Given the description of an element on the screen output the (x, y) to click on. 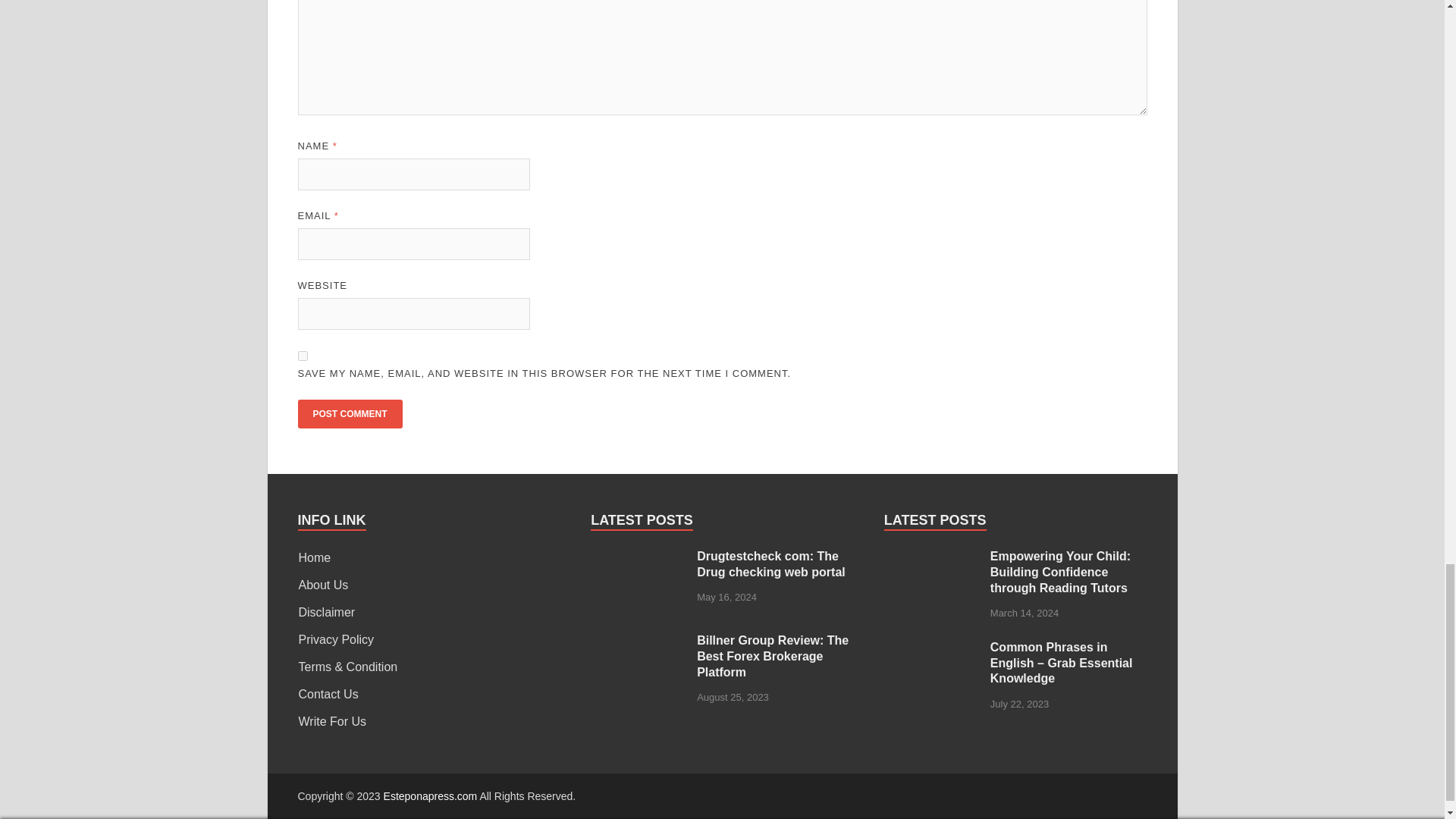
Drugtestcheck com: The Drug checking web portal (638, 557)
yes (302, 356)
Billner Group Review: The Best Forex Brokerage Platform (638, 641)
Post Comment (349, 413)
